Given the description of an element on the screen output the (x, y) to click on. 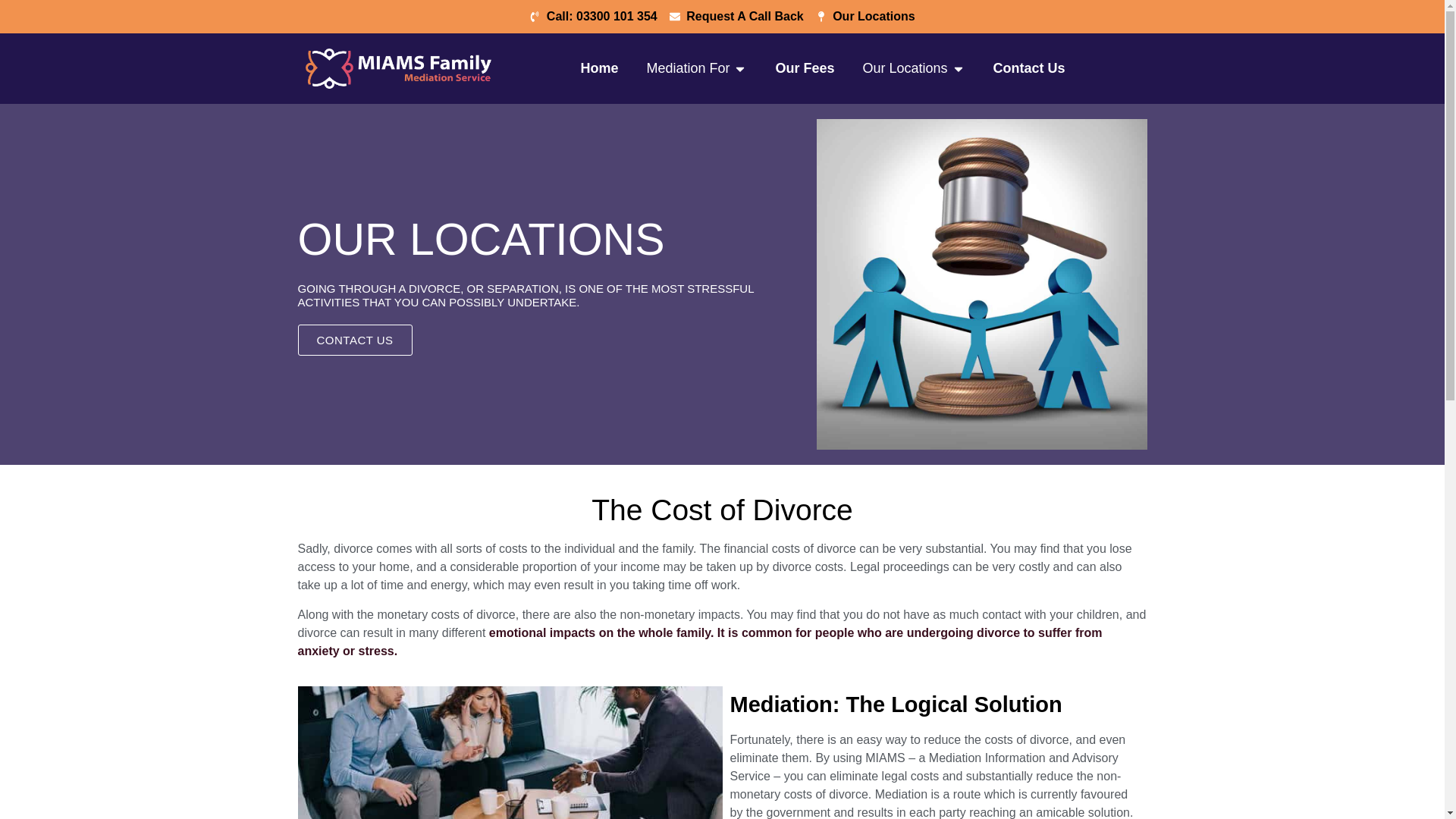
Request A Call Back (736, 16)
Contact Us (1028, 68)
Our Fees (804, 68)
Home (598, 68)
Our Locations (865, 16)
Call: 03300 101 354 (592, 16)
